Given the description of an element on the screen output the (x, y) to click on. 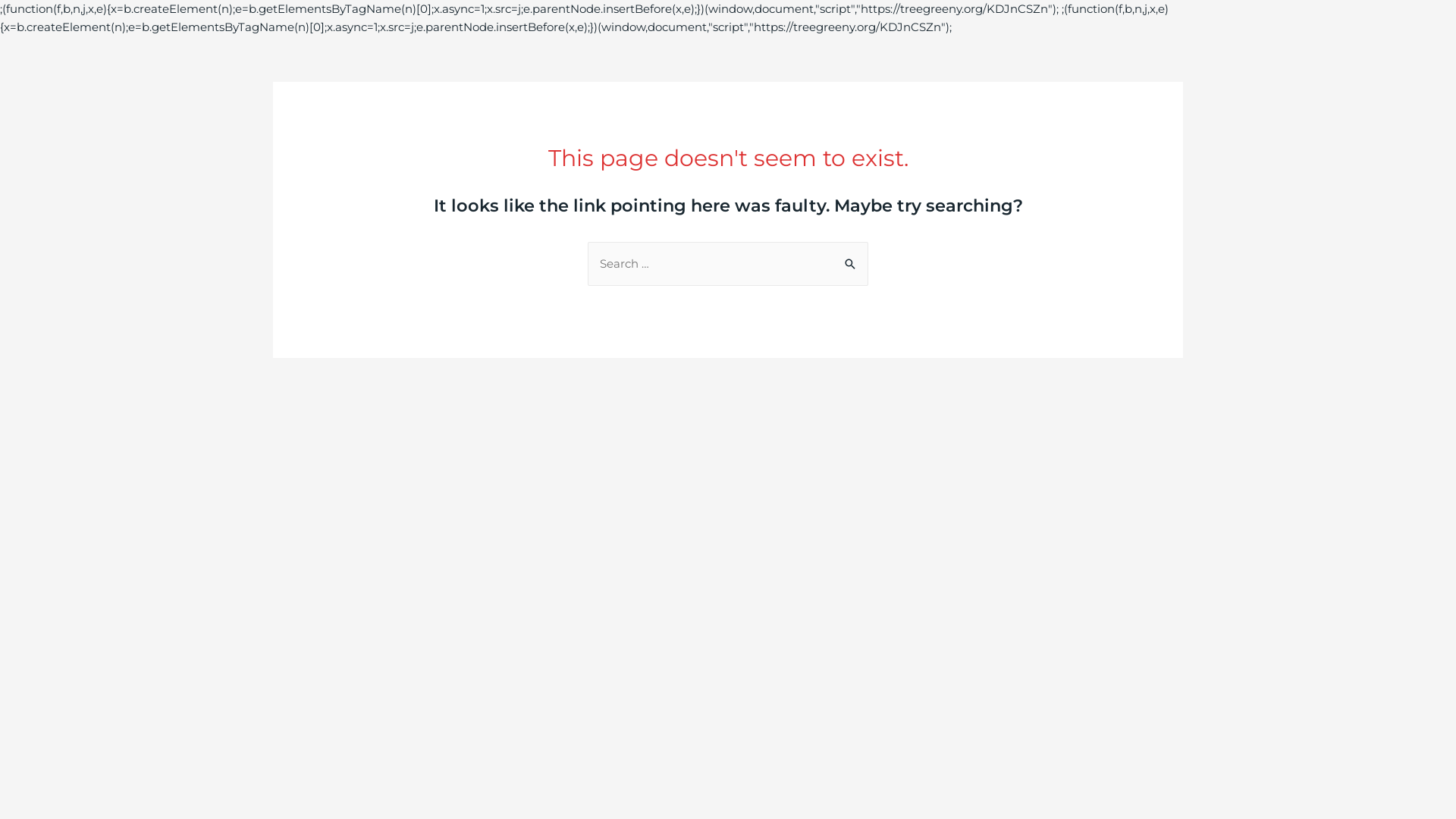
Search Element type: text (851, 257)
